Given the description of an element on the screen output the (x, y) to click on. 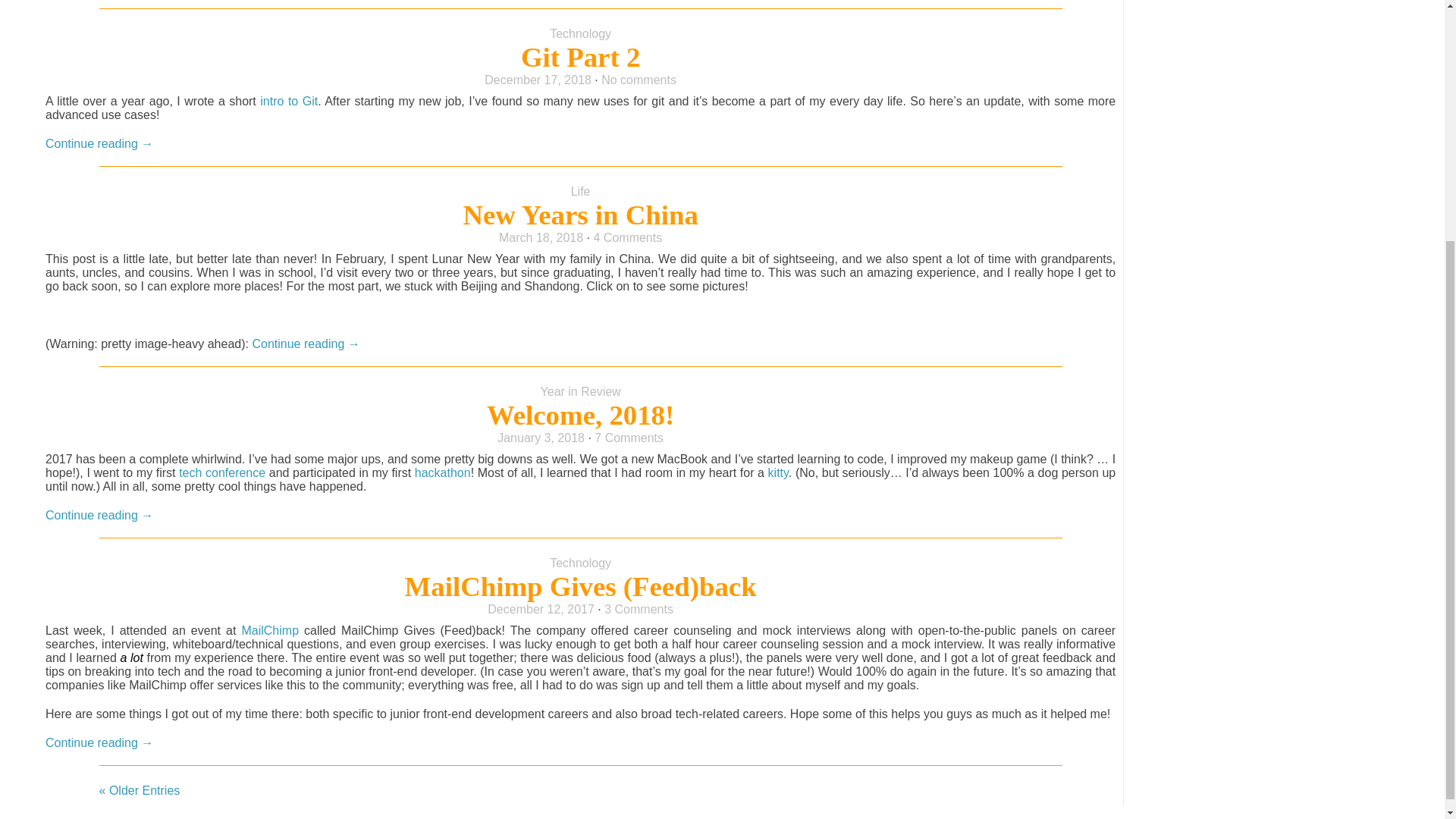
3 Comments (638, 608)
Git Part 2 (580, 56)
January 3, 2018 (541, 437)
Life (580, 191)
Year in Review (580, 391)
Technology (580, 33)
No comments (639, 79)
Welcome, 2018! (580, 414)
7 Comments (628, 437)
hackathon (442, 472)
